Given the description of an element on the screen output the (x, y) to click on. 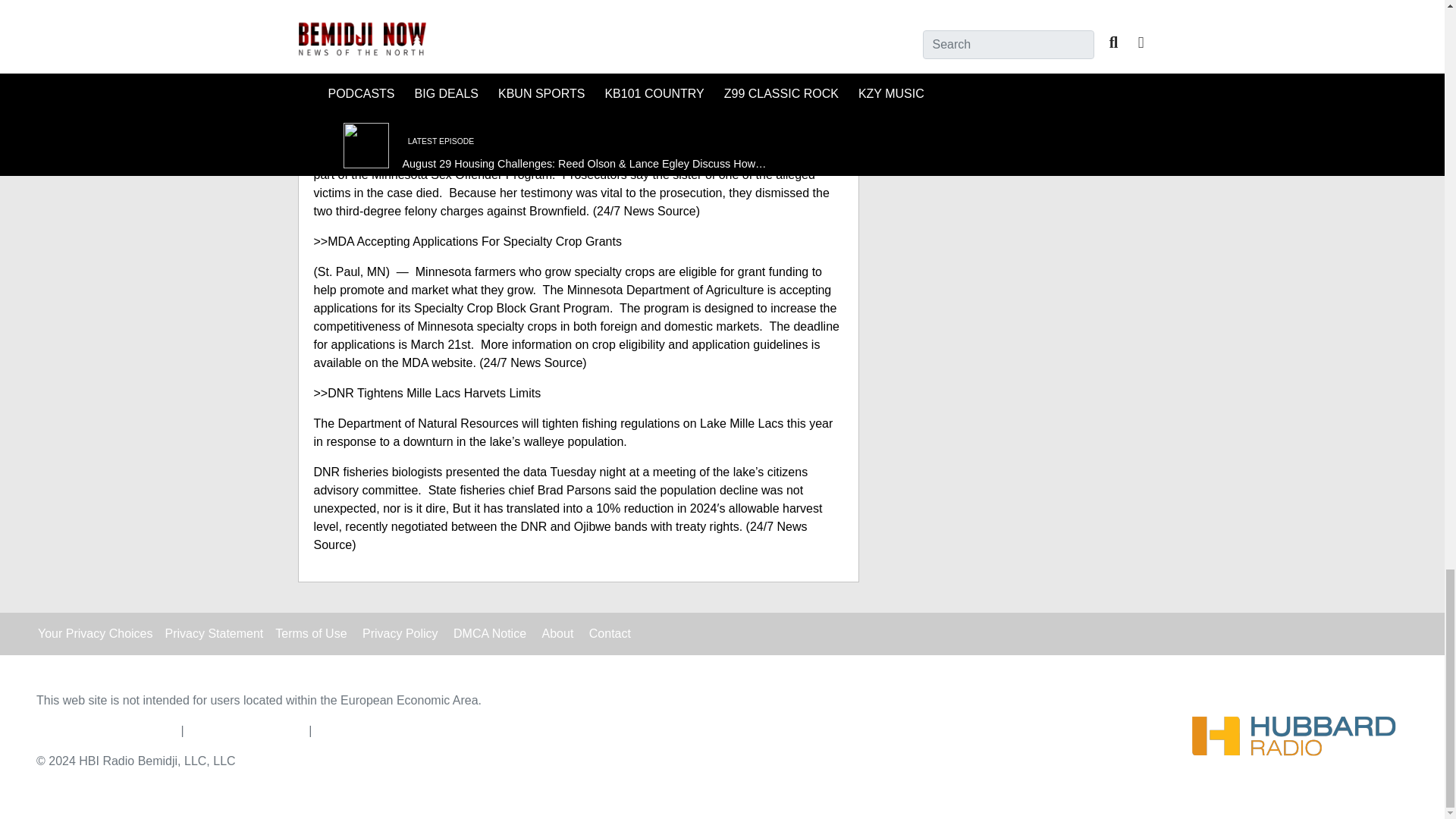
DMCA Notice (488, 633)
Your Privacy Choices (94, 633)
Terms of Use (310, 633)
Privacy Statement (213, 633)
Privacy Policy (400, 633)
